Given the description of an element on the screen output the (x, y) to click on. 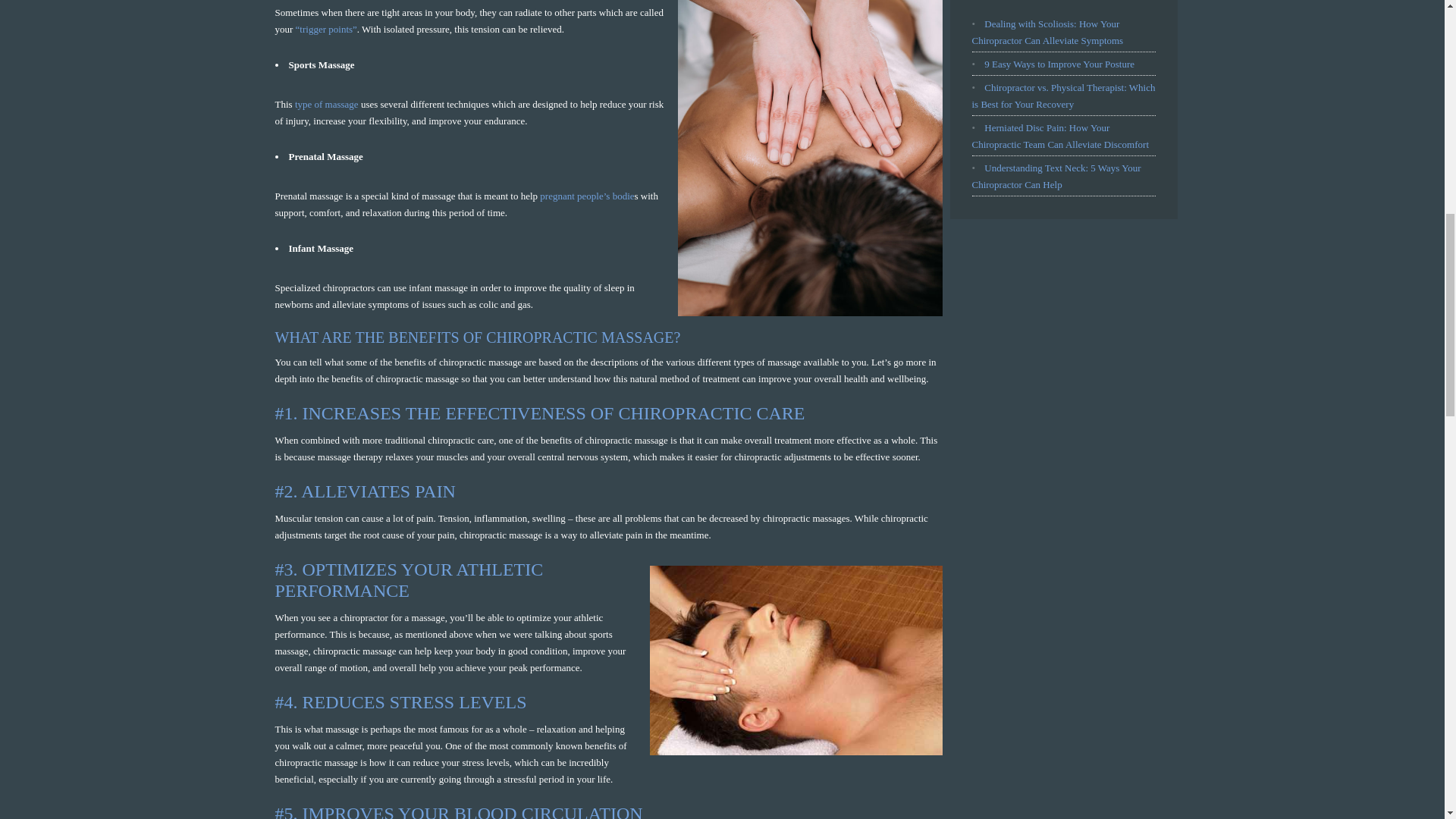
6 Useful Benefits Of Chiropractic Massage (795, 660)
